Given the description of an element on the screen output the (x, y) to click on. 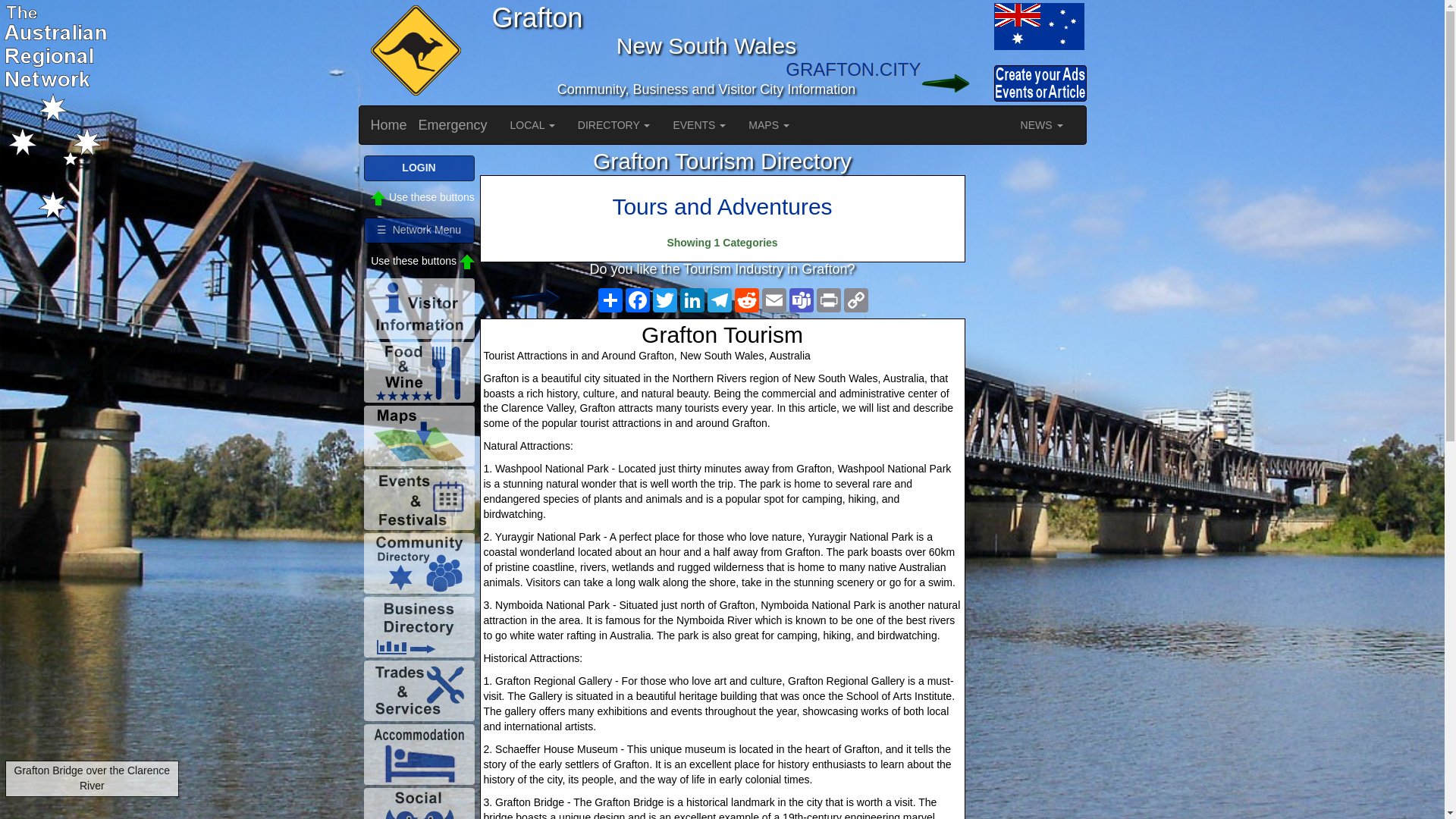
Australia (956, 26)
Login to grafton.city (956, 83)
Grafton Australia (1037, 26)
Emergency (453, 125)
DIRECTORY (614, 125)
Grafton Skippycoin ICG (413, 52)
Home (389, 125)
LOCAL (532, 125)
Please like our Page (548, 297)
